Given the description of an element on the screen output the (x, y) to click on. 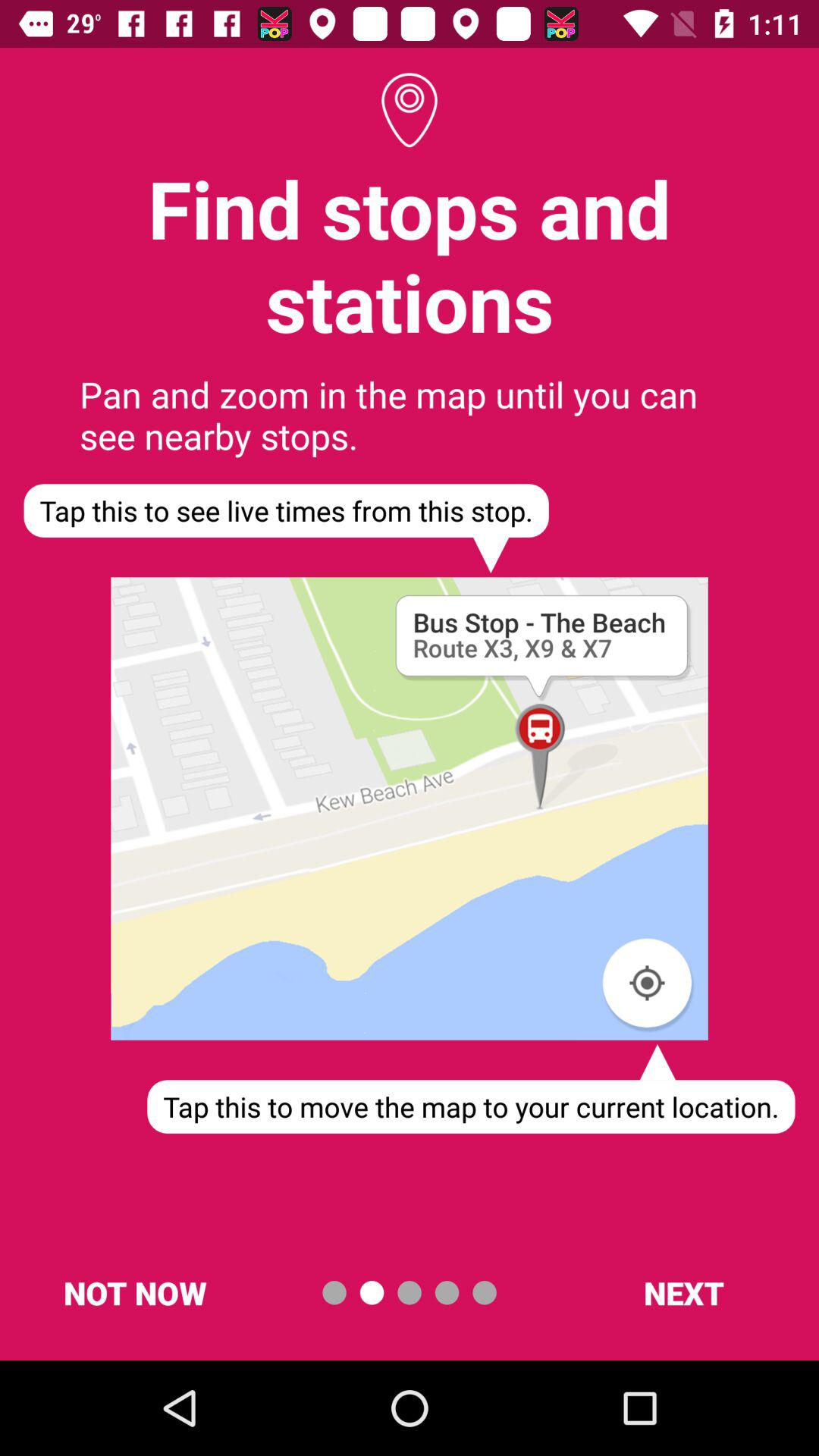
launch the item at the bottom left corner (134, 1292)
